Given the description of an element on the screen output the (x, y) to click on. 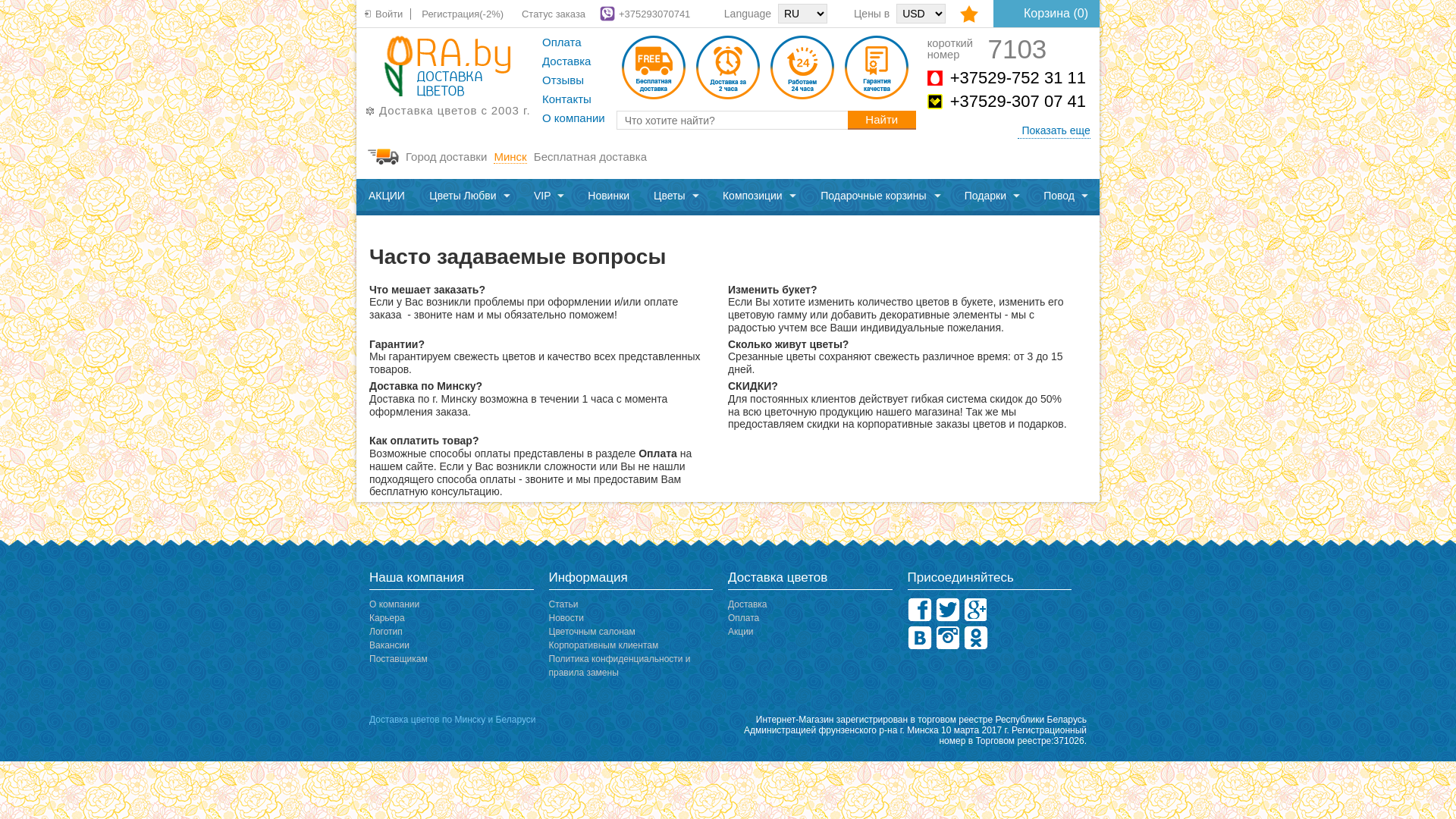
VIP Element type: text (548, 196)
